Given the description of an element on the screen output the (x, y) to click on. 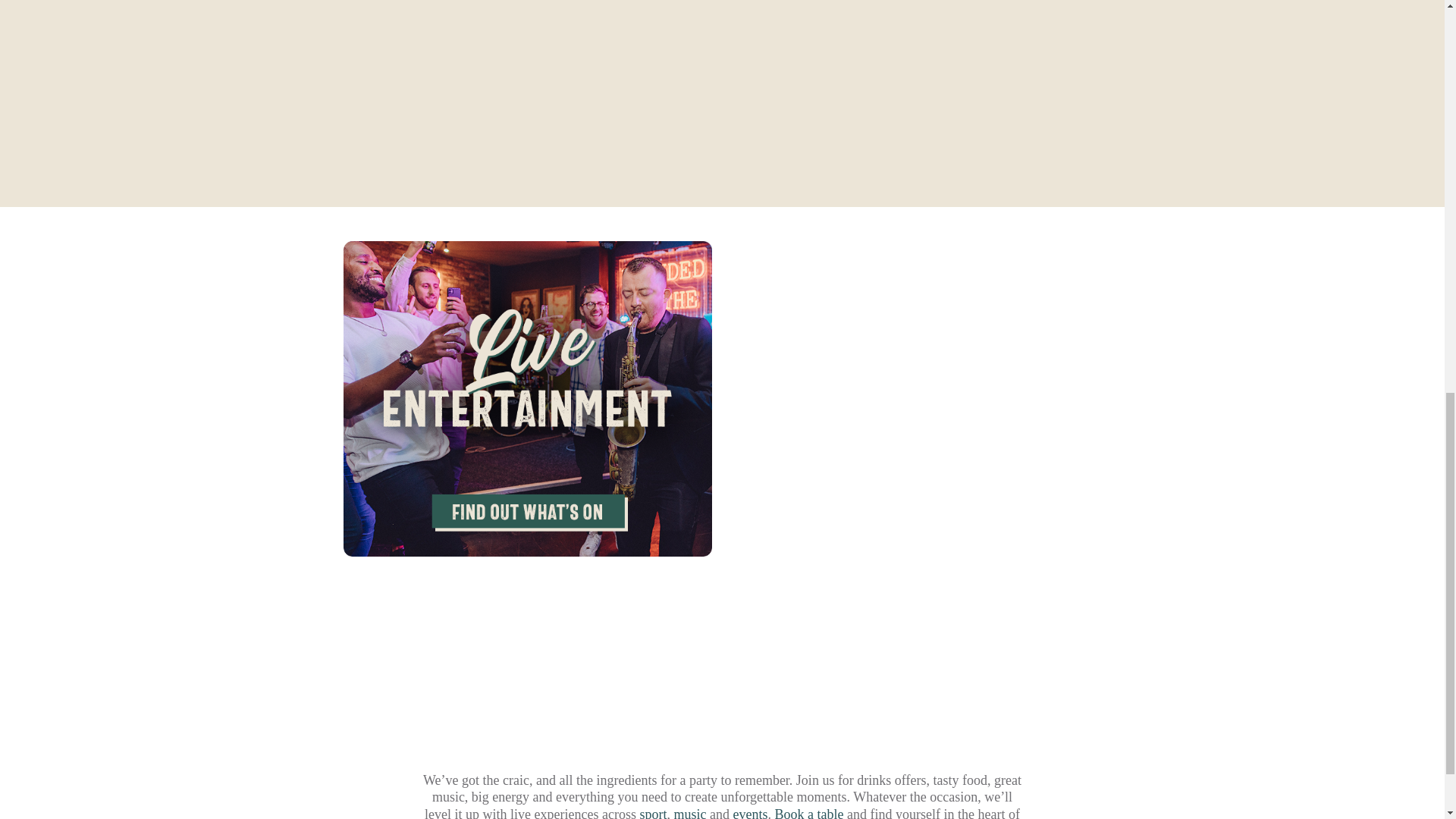
Book a table (808, 812)
music (689, 812)
events (749, 812)
sport (653, 812)
